Given the description of an element on the screen output the (x, y) to click on. 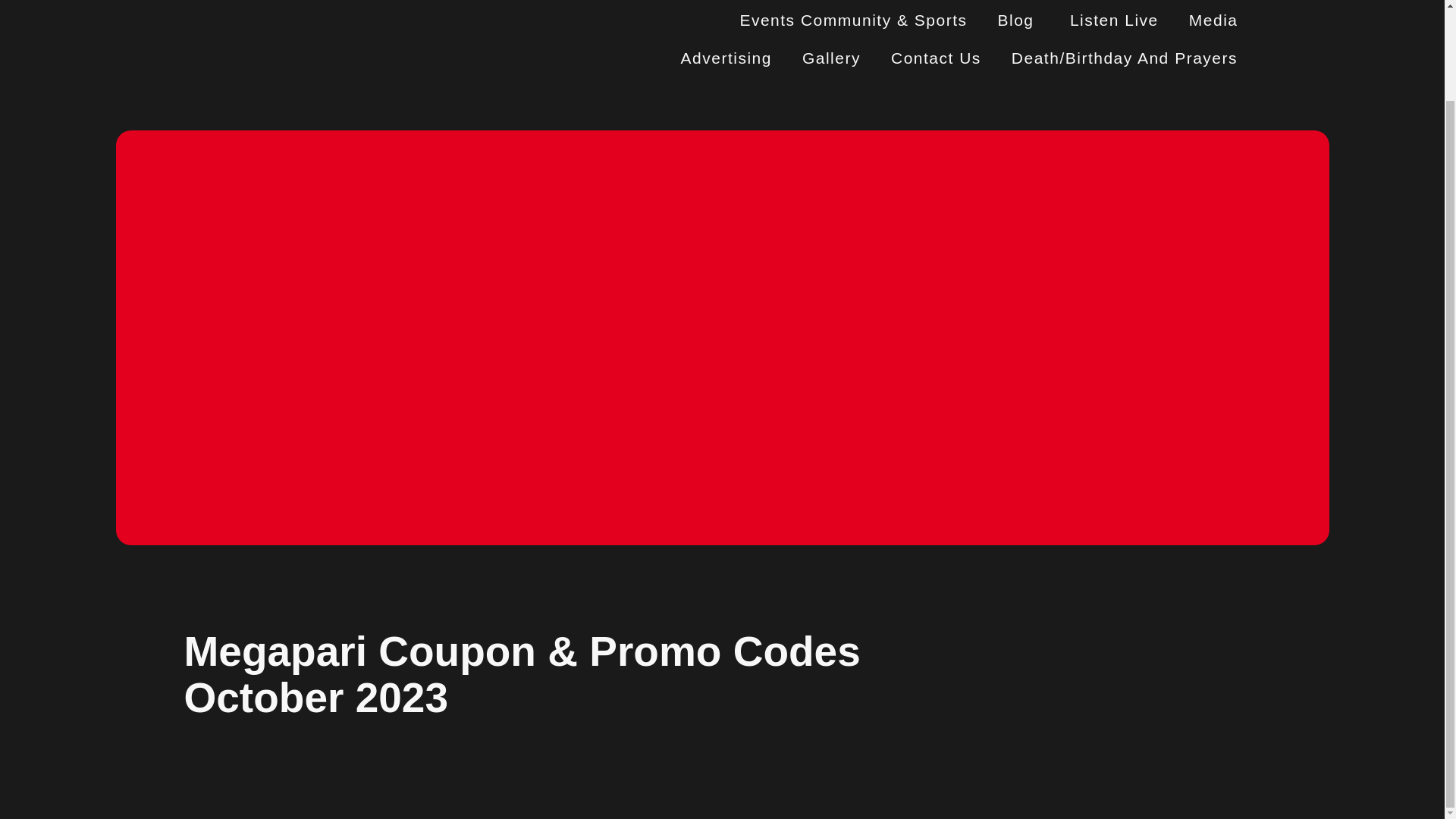
Contact Us (935, 57)
Media (1213, 20)
Listen Live (1113, 20)
Blog  (1018, 20)
Home (895, 0)
About Us (986, 0)
Gallery (831, 57)
Advertising (726, 57)
Our Team (1093, 0)
Business (1200, 0)
